Given the description of an element on the screen output the (x, y) to click on. 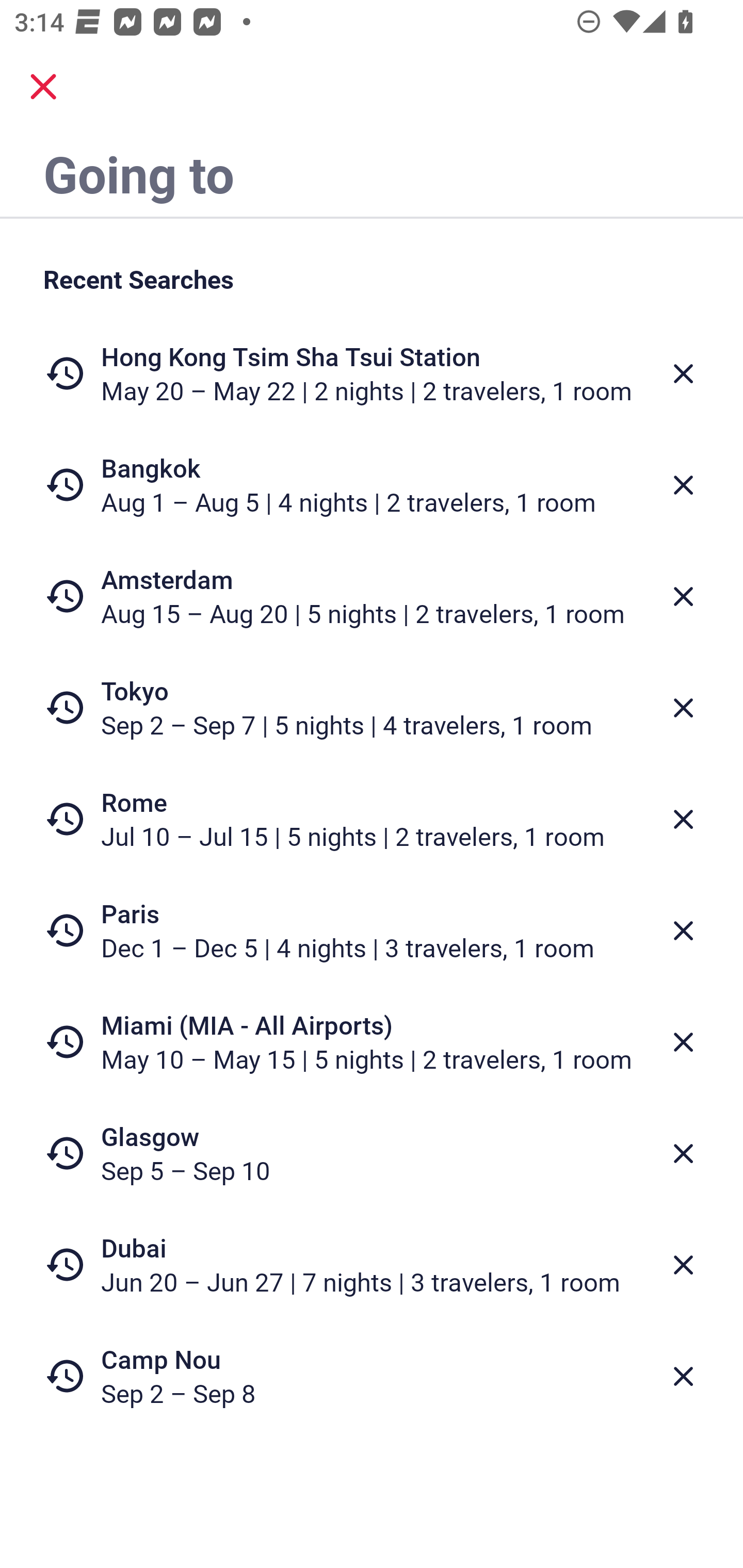
close. (43, 86)
Delete from recent searches (683, 373)
Delete from recent searches (683, 485)
Delete from recent searches (683, 596)
Delete from recent searches (683, 707)
Delete from recent searches (683, 819)
Delete from recent searches (683, 930)
Delete from recent searches (683, 1041)
Glasgow Sep 5 – Sep 10 (371, 1152)
Delete from recent searches (683, 1153)
Delete from recent searches (683, 1265)
Camp Nou Sep 2 – Sep 8 (371, 1375)
Delete from recent searches (683, 1376)
